Given the description of an element on the screen output the (x, y) to click on. 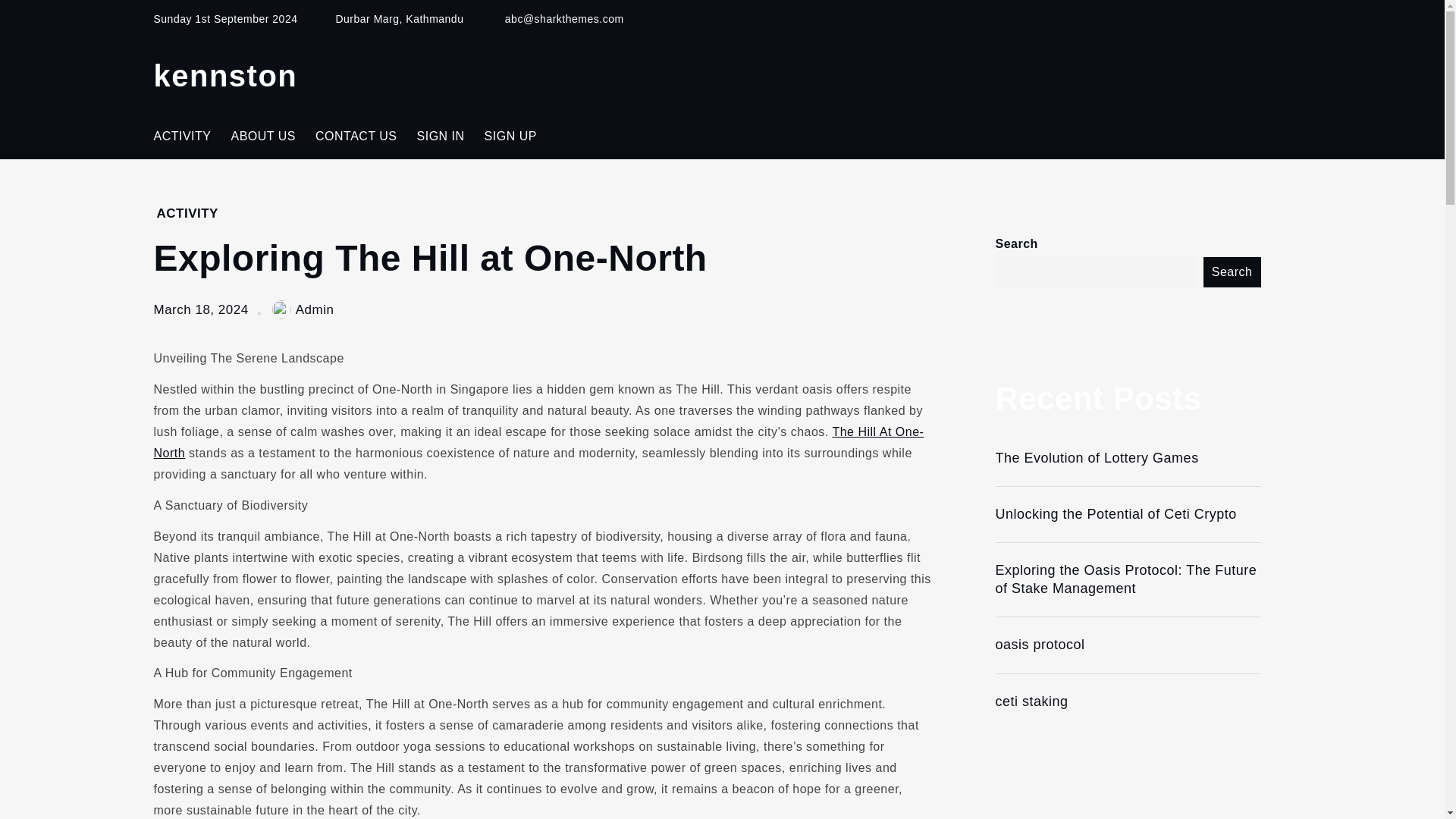
Admin (303, 309)
Unlocking the Potential of Ceti Crypto (1127, 514)
Exploring the Oasis Protocol: The Future of Stake Management (1127, 579)
CONTACT US (356, 135)
The Evolution of Lottery Games (1127, 457)
The Hill At One-North (537, 442)
SIGN UP (510, 135)
oasis protocol (1127, 644)
ABOUT US (263, 135)
kennston (224, 75)
